Given the description of an element on the screen output the (x, y) to click on. 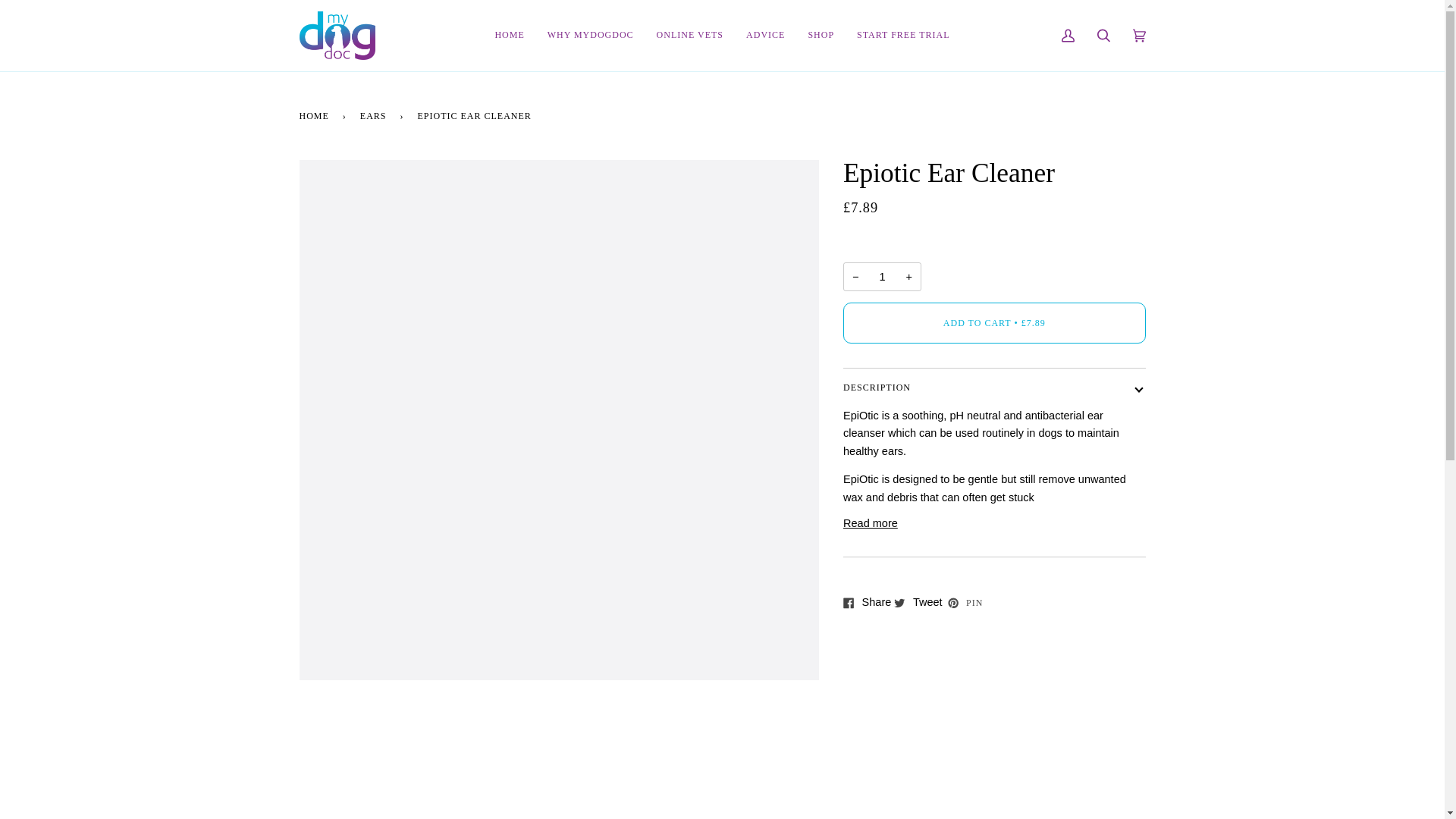
Back to the frontpage (315, 115)
1 (882, 276)
ONLINE VETS (690, 35)
START FREE TRIAL (902, 35)
WHY MYDOGDOC (590, 35)
